Given the description of an element on the screen output the (x, y) to click on. 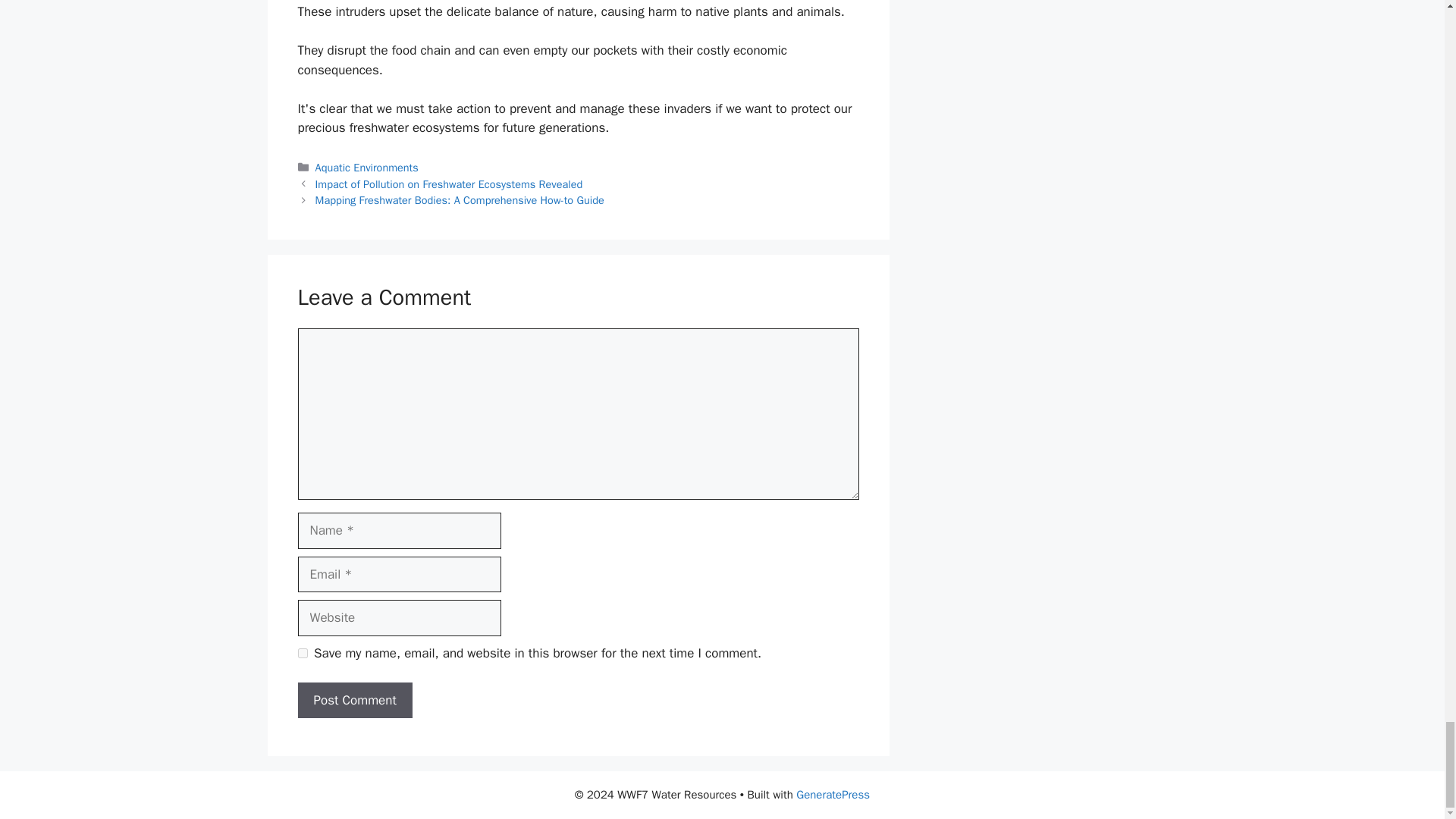
Post Comment (354, 700)
Previous (449, 183)
GeneratePress (832, 794)
Aquatic Environments (367, 167)
Mapping Freshwater Bodies: A Comprehensive How-to Guide (459, 200)
yes (302, 653)
Impact of Pollution on Freshwater Ecosystems Revealed (449, 183)
Next (459, 200)
Post Comment (354, 700)
